Given the description of an element on the screen output the (x, y) to click on. 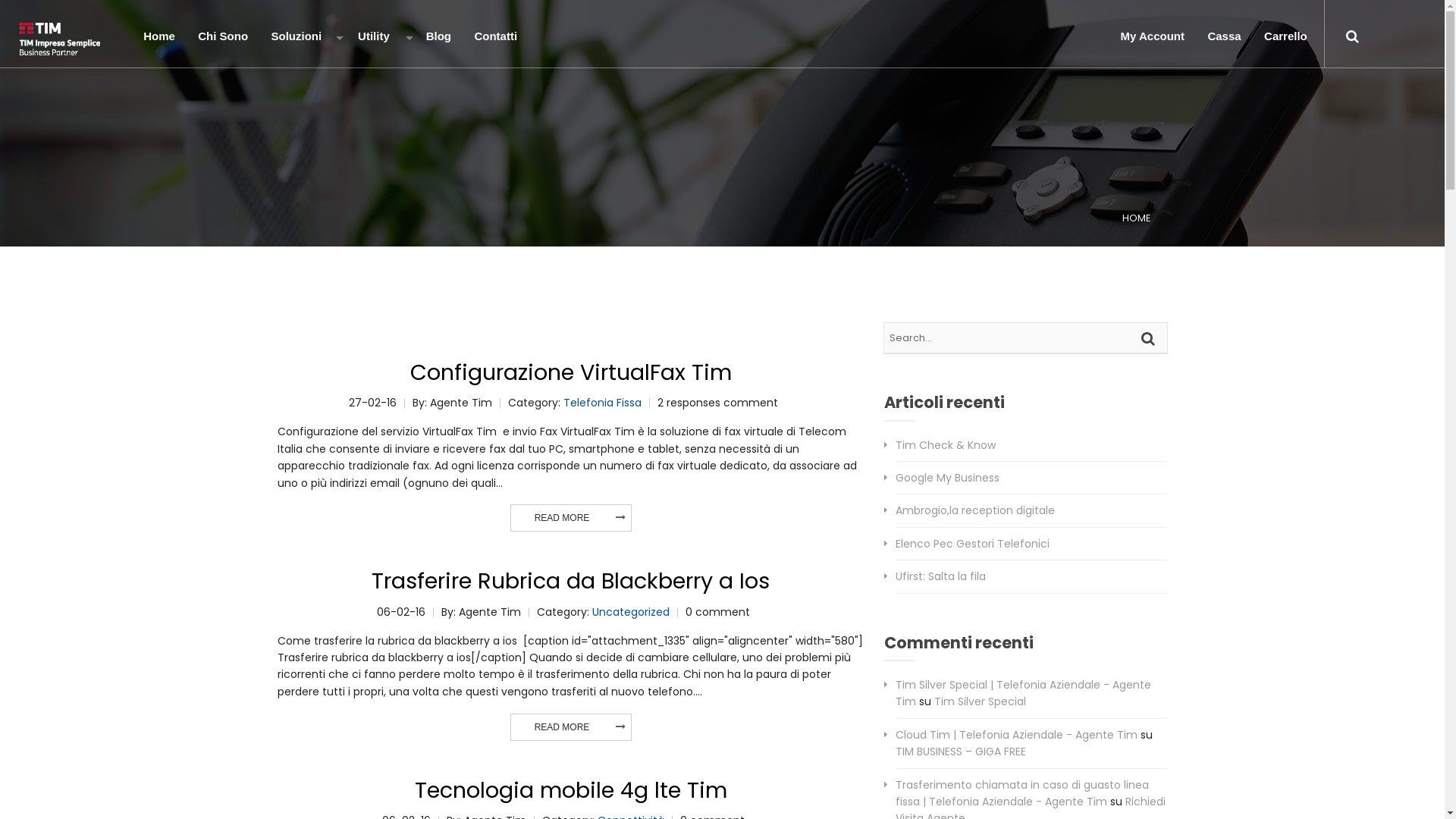
Search Element type: text (1150, 337)
Cloud Tim | Telefonia Aziendale - Agente Tim Element type: text (1016, 734)
Chi Sono Element type: text (221, 39)
READ MORE Element type: text (561, 517)
Carrello Element type: text (1284, 39)
Ambrogio,la reception digitale Element type: text (974, 509)
Telefonia Aziendale | Agente Tim Element type: hover (59, 38)
My Account Element type: text (1150, 39)
Linea Telefonica Tim Element type: text (318, 68)
Blog Element type: text (436, 39)
Bolletta Tim Digitale Element type: text (405, 99)
HOME Element type: text (1136, 217)
Telefonia Fissa Element type: text (601, 402)
Linea mobile ricaricabile Tim Element type: text (405, 220)
Tim Silver Special | Telefonia Aziendale - Agente Tim Element type: text (1023, 693)
Tim Check & Know Element type: text (945, 444)
Trasferire Rubrica da Blackberry a Ios Element type: text (570, 580)
Uncategorized Element type: text (629, 611)
Prodotti Connessi Tim Element type: text (318, 220)
Come leggere fattura Tim Mobile Element type: text (405, 281)
Utility Element type: text (379, 39)
Scrivi a Tim Element type: text (405, 190)
Smartphone Tim Aziendale Element type: text (318, 190)
Contatti Element type: text (494, 39)
Centralino Telefonico Tim Element type: text (318, 129)
Verifica Agente Tim Element type: text (405, 372)
Blocco servizi a pagamento Element type: text (405, 68)
READ MORE Element type: text (561, 727)
Linea Mobile Tim Element type: text (318, 99)
Numeri assistenza Tecnica Tim Element type: text (405, 159)
Home Element type: text (157, 39)
Connessione Internet Professionale Element type: text (318, 159)
Tim Silver Special Element type: text (980, 701)
Soluzioni Element type: text (301, 39)
Codici sblocco telefonici Element type: text (405, 250)
Configurazione VirtualFax Tim Element type: text (570, 372)
Google My Business Element type: text (947, 477)
Ufirst: Salta la fila Element type: text (940, 575)
Tecnologia mobile 4g lte Tim Element type: text (570, 790)
Elenco Pec Gestori Telefonici Element type: text (972, 543)
Domiciliazione Bancaria Fattura Tim Element type: text (405, 311)
Cassa Element type: text (1222, 39)
Il Gruppo Telecom Italia Element type: text (405, 129)
